Given the description of an element on the screen output the (x, y) to click on. 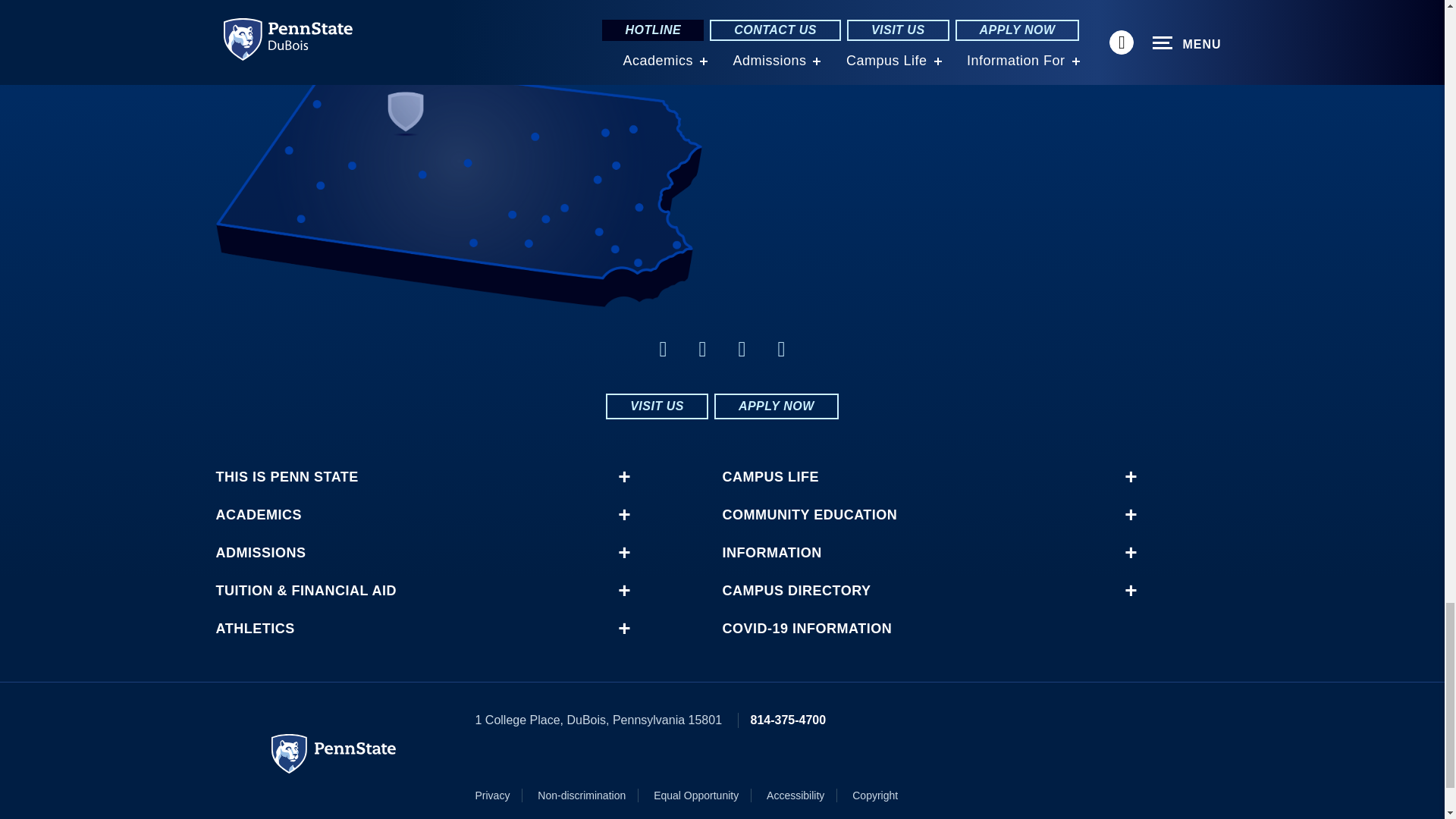
linkedin (702, 349)
Penn State University (333, 753)
COVID-19 Information (921, 628)
facebook (662, 349)
twitter (741, 349)
instagram (781, 349)
